Given the description of an element on the screen output the (x, y) to click on. 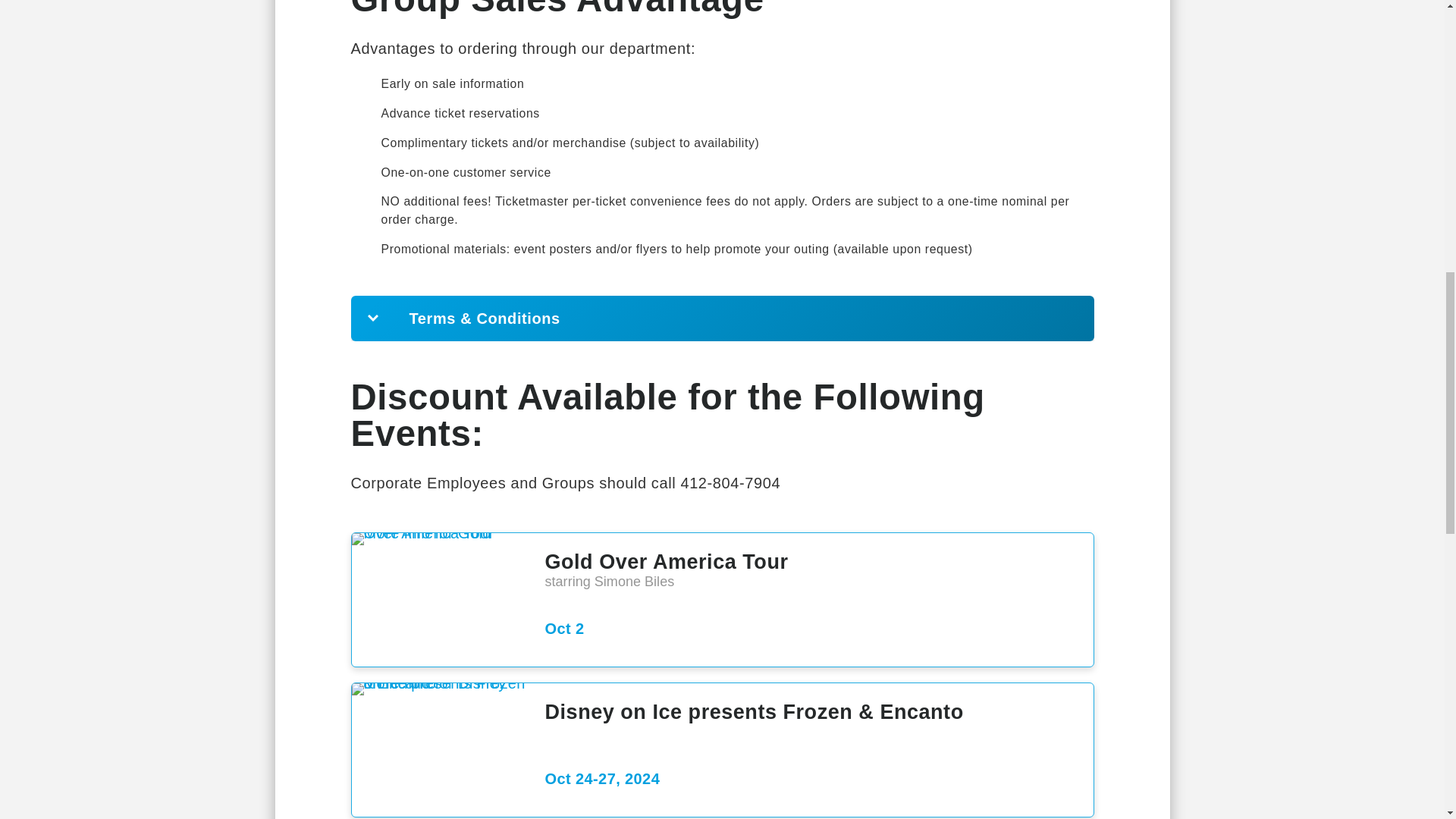
More Info for Gold Over America Tour  (438, 539)
More Info (665, 561)
More Info (753, 712)
